Given the description of an element on the screen output the (x, y) to click on. 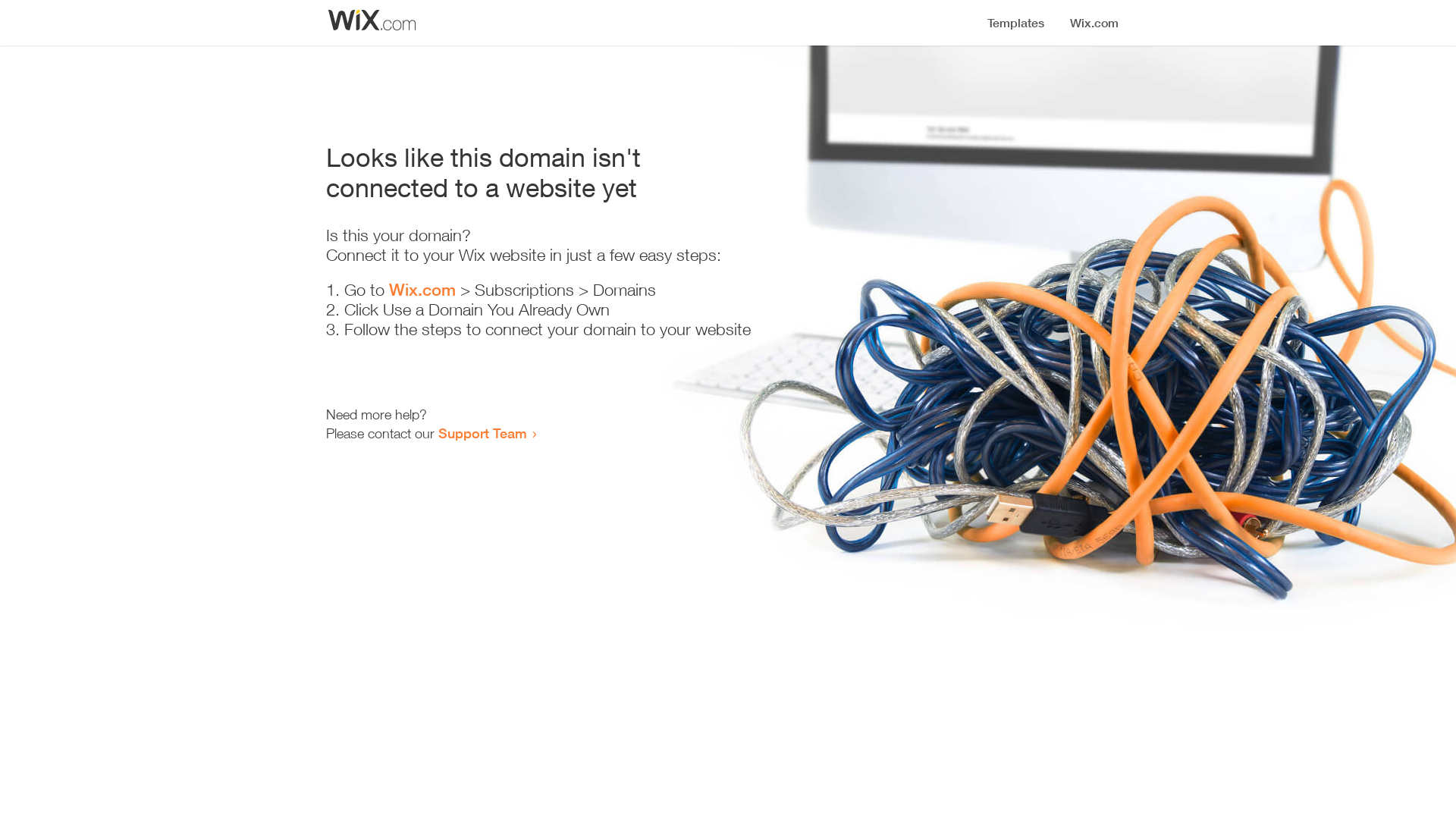
Support Team Element type: text (482, 432)
Wix.com Element type: text (422, 289)
